Given the description of an element on the screen output the (x, y) to click on. 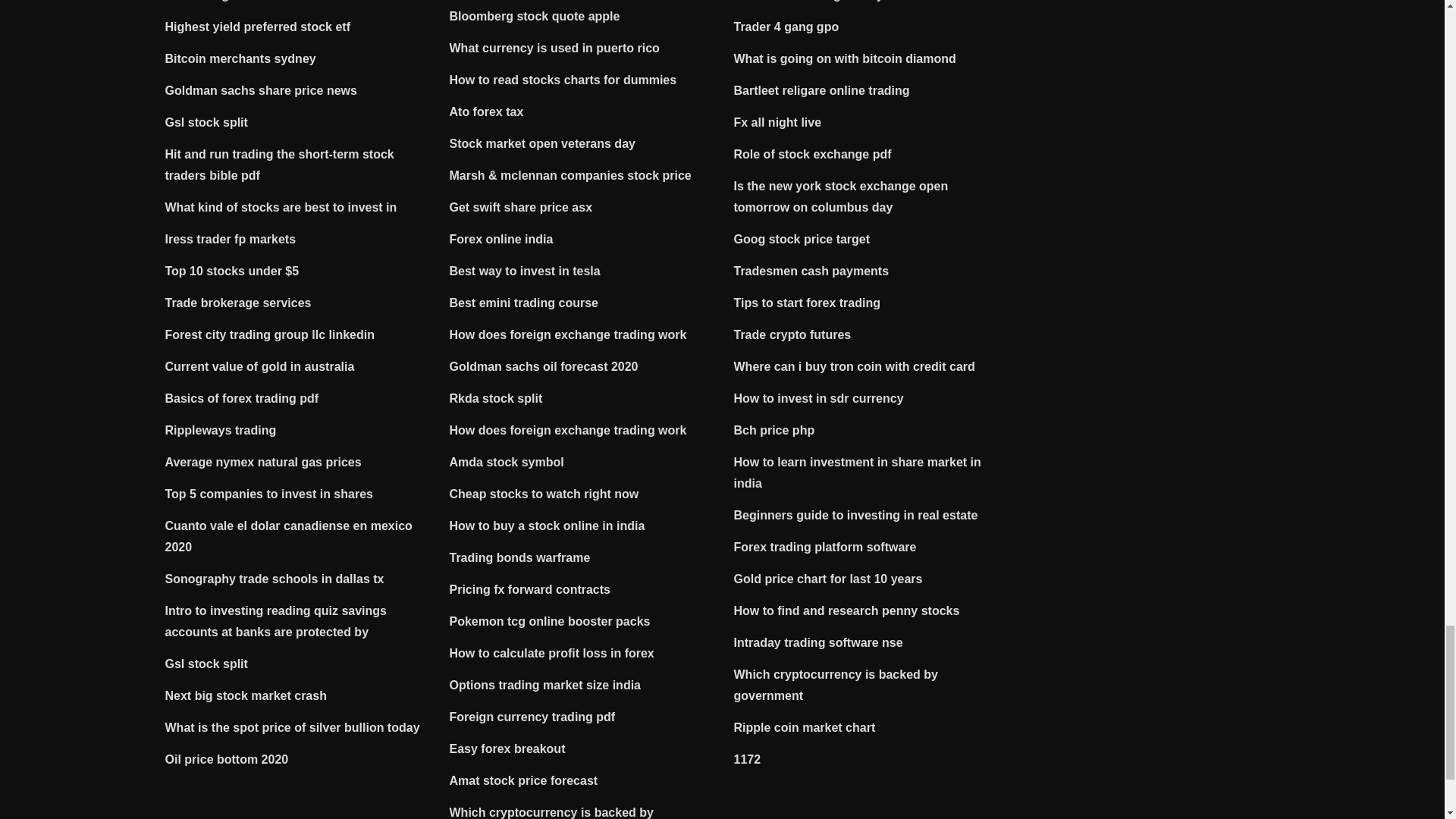
Iress trader fp markets (231, 238)
Goldman sachs share price news (260, 90)
Is forex legal in china (226, 0)
Hit and run trading the short-term stock traders bible pdf (279, 164)
Trade brokerage services (238, 302)
Gsl stock split (206, 122)
What kind of stocks are best to invest in (281, 206)
Forest city trading group llc linkedin (269, 334)
Bitcoin merchants sydney (240, 58)
Highest yield preferred stock etf (257, 26)
